Given the description of an element on the screen output the (x, y) to click on. 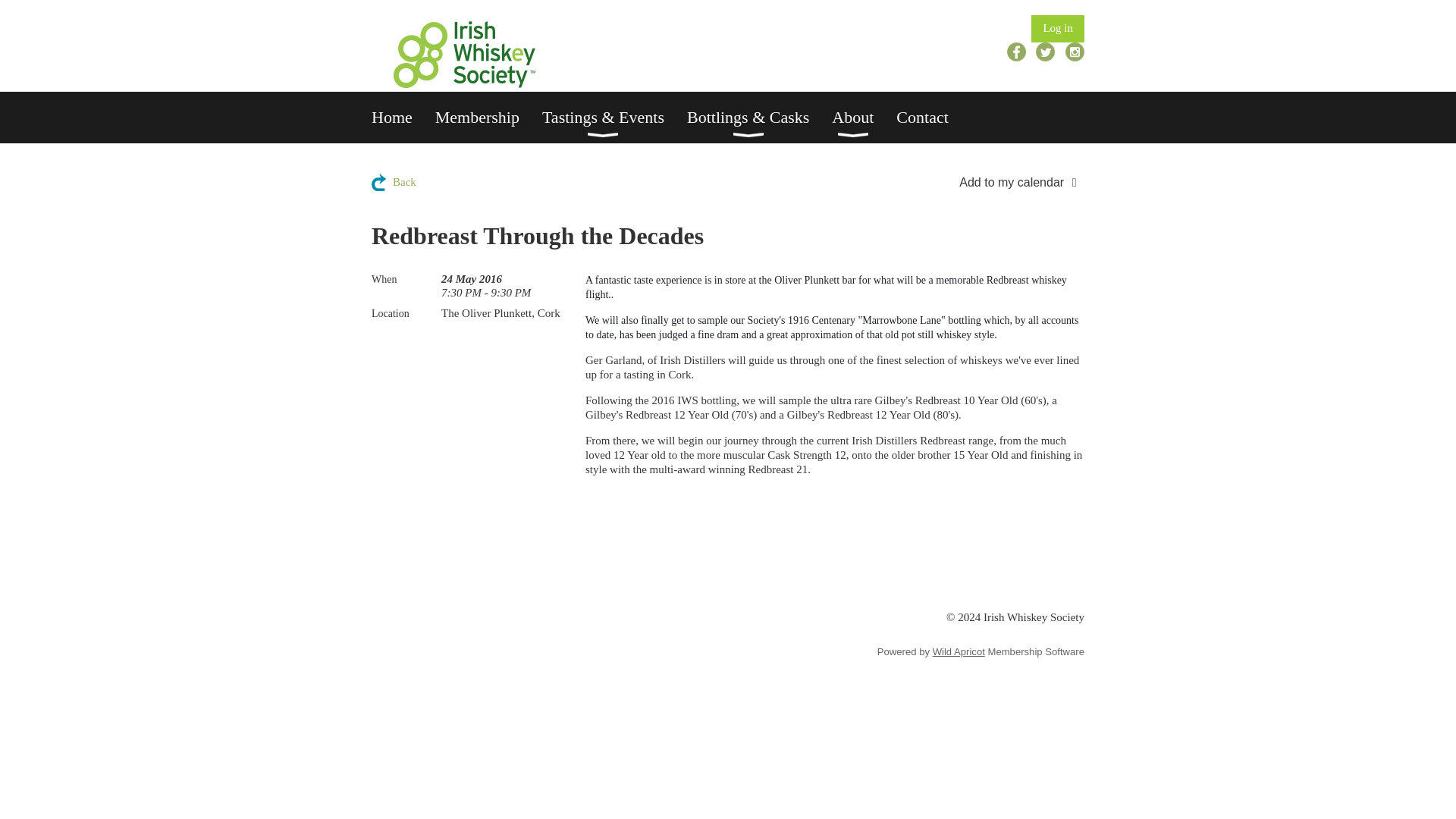
Back (393, 181)
About (863, 117)
Facebook (1016, 51)
Membership (488, 117)
Twitter (1044, 51)
Instagram (1074, 51)
Log in (1057, 28)
Wild Apricot (959, 651)
Membership (488, 117)
Contact (933, 117)
Home (403, 117)
Home (403, 117)
About (863, 117)
